Given the description of an element on the screen output the (x, y) to click on. 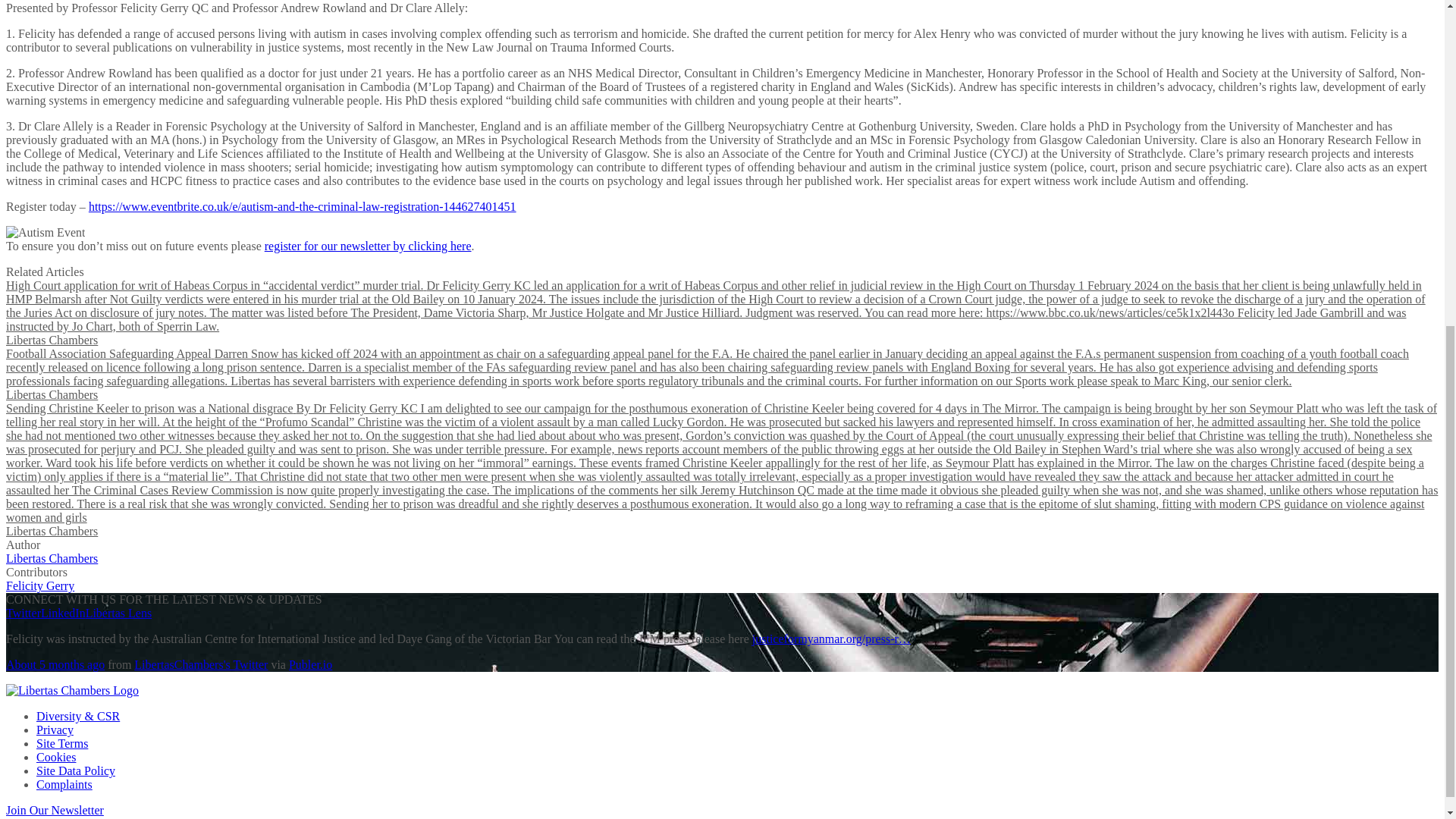
LibertasChambers (200, 664)
